Given the description of an element on the screen output the (x, y) to click on. 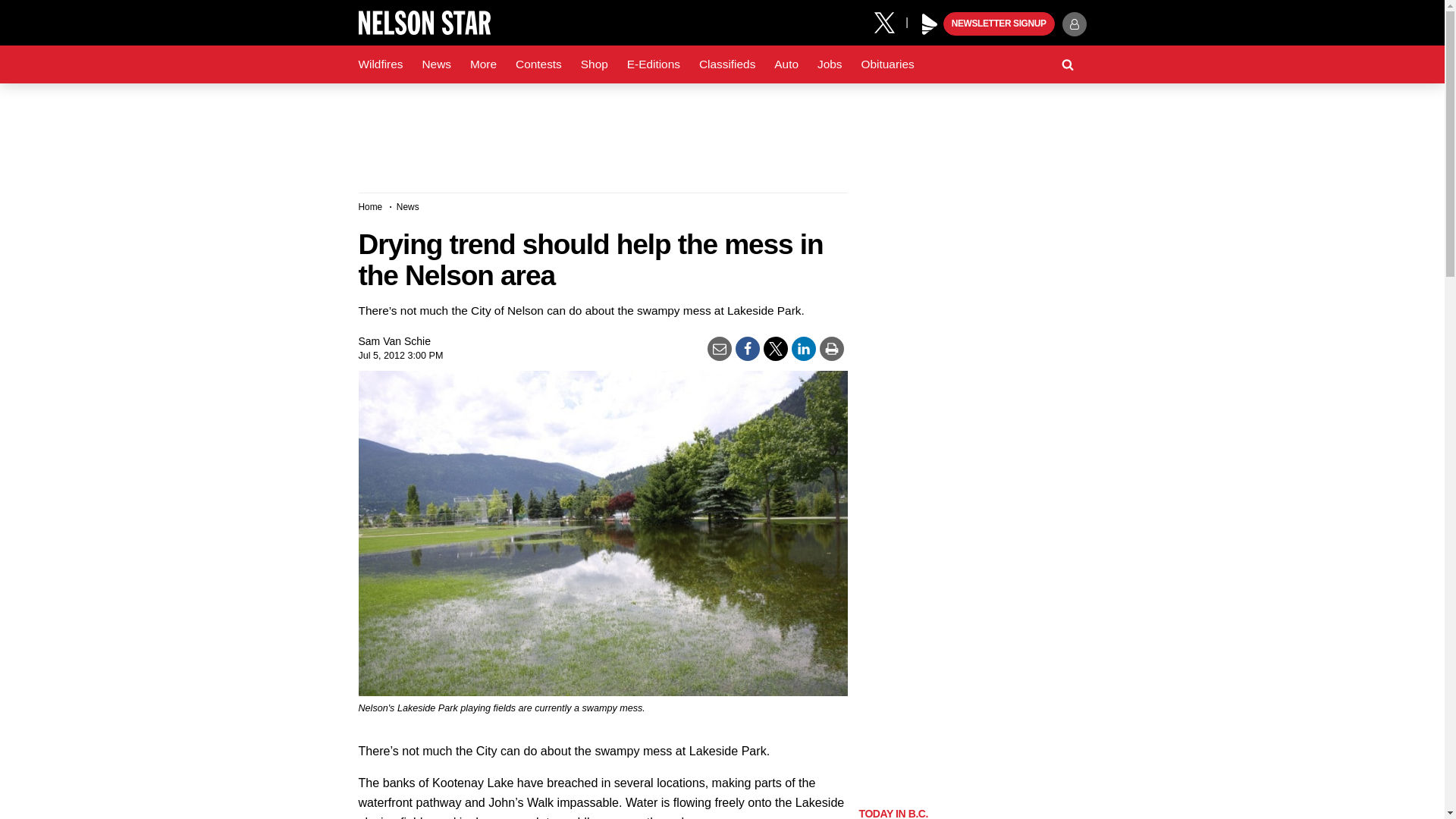
X (889, 21)
Play (929, 24)
News (435, 64)
NEWSLETTER SIGNUP (998, 24)
Black Press Media (929, 24)
Wildfires (380, 64)
